Given the description of an element on the screen output the (x, y) to click on. 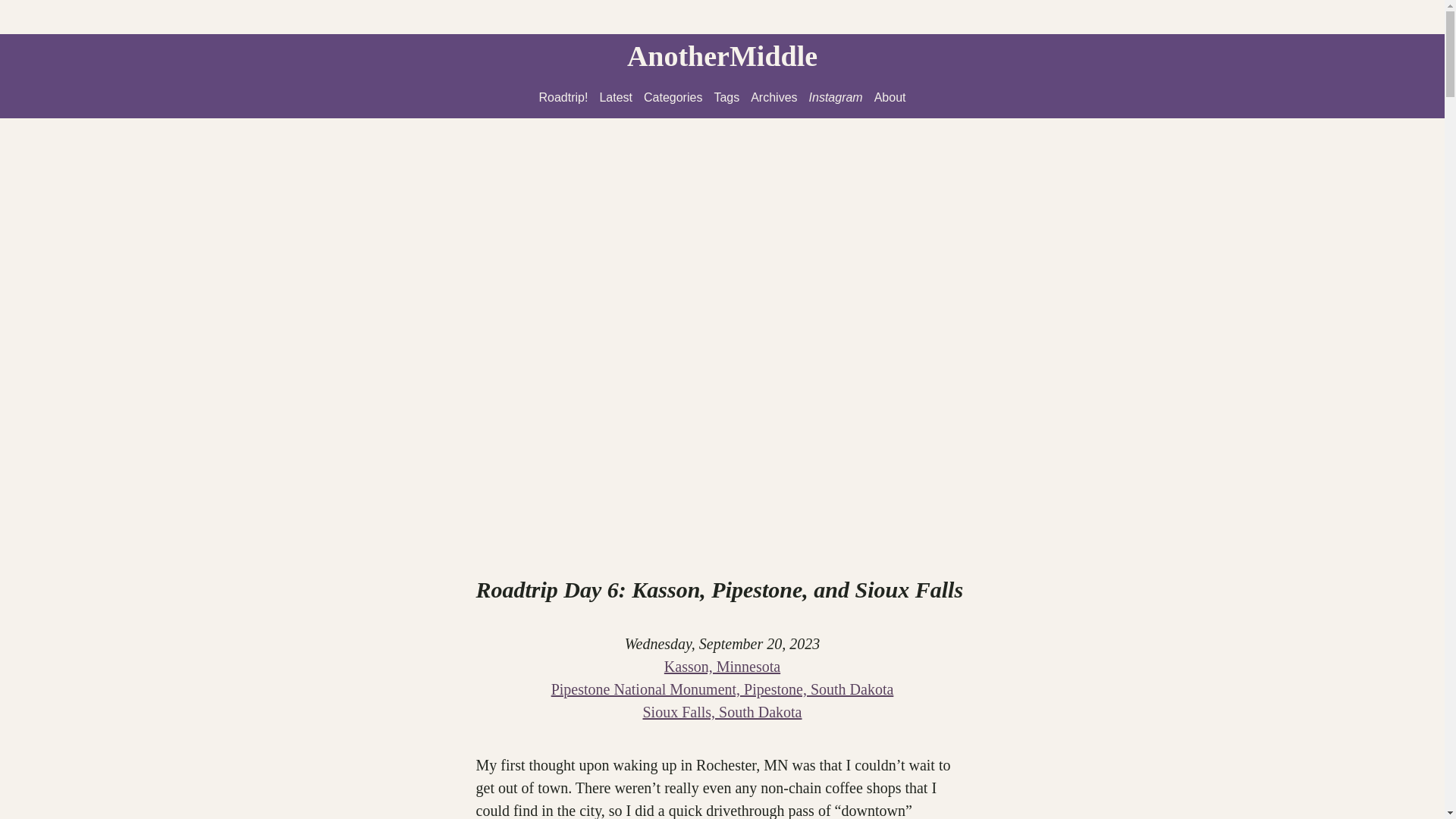
Latest (614, 97)
Archives (773, 97)
Categories (672, 97)
Tags (726, 97)
About (890, 97)
Roadtrip! (563, 97)
Sioux Falls, South Dakota (722, 711)
Instagram (836, 97)
Kasson, Minnesota (721, 666)
Instagram (836, 97)
